Given the description of an element on the screen output the (x, y) to click on. 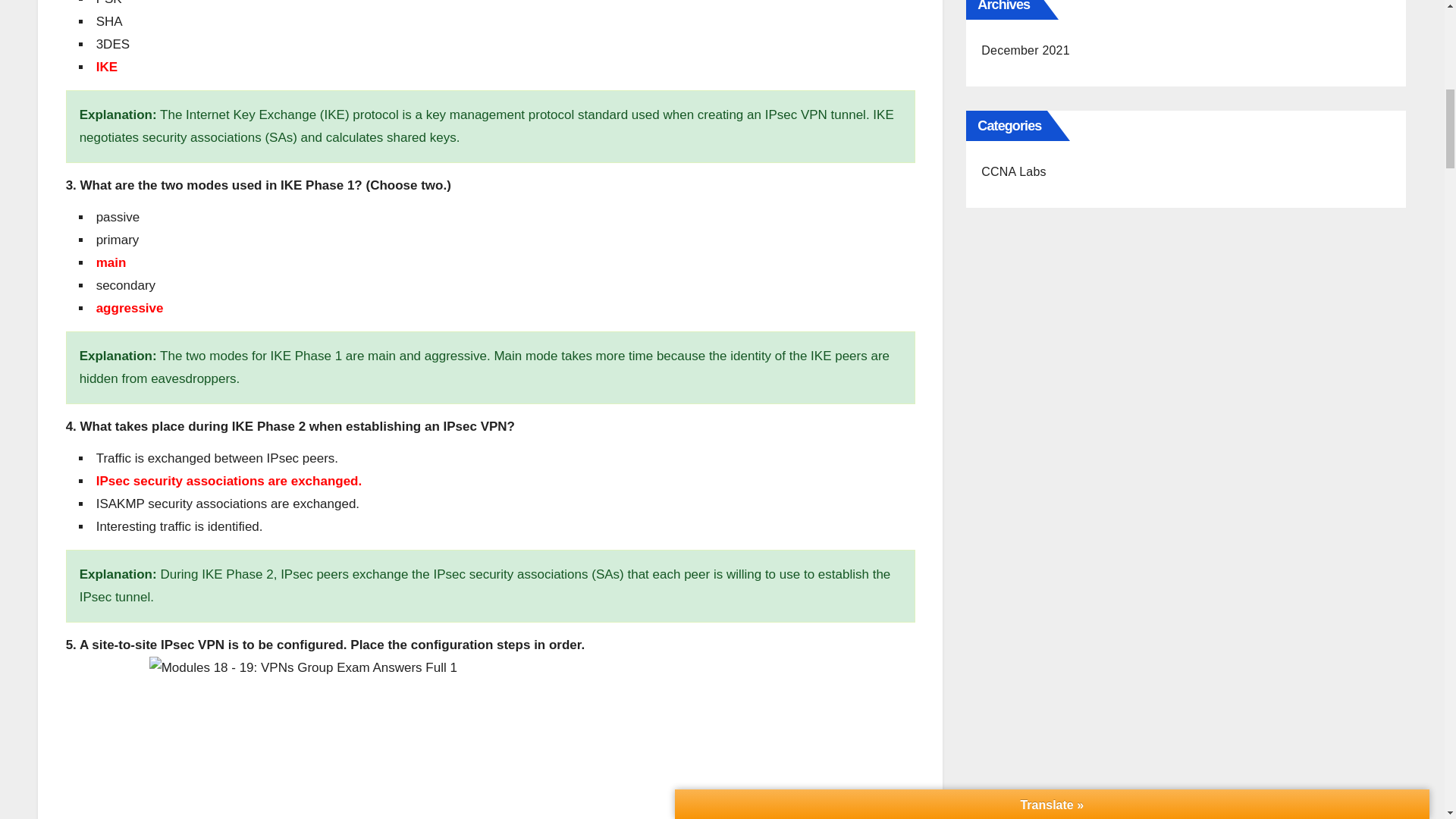
December 2021 (1024, 50)
CCNA Labs (1013, 171)
